Given the description of an element on the screen output the (x, y) to click on. 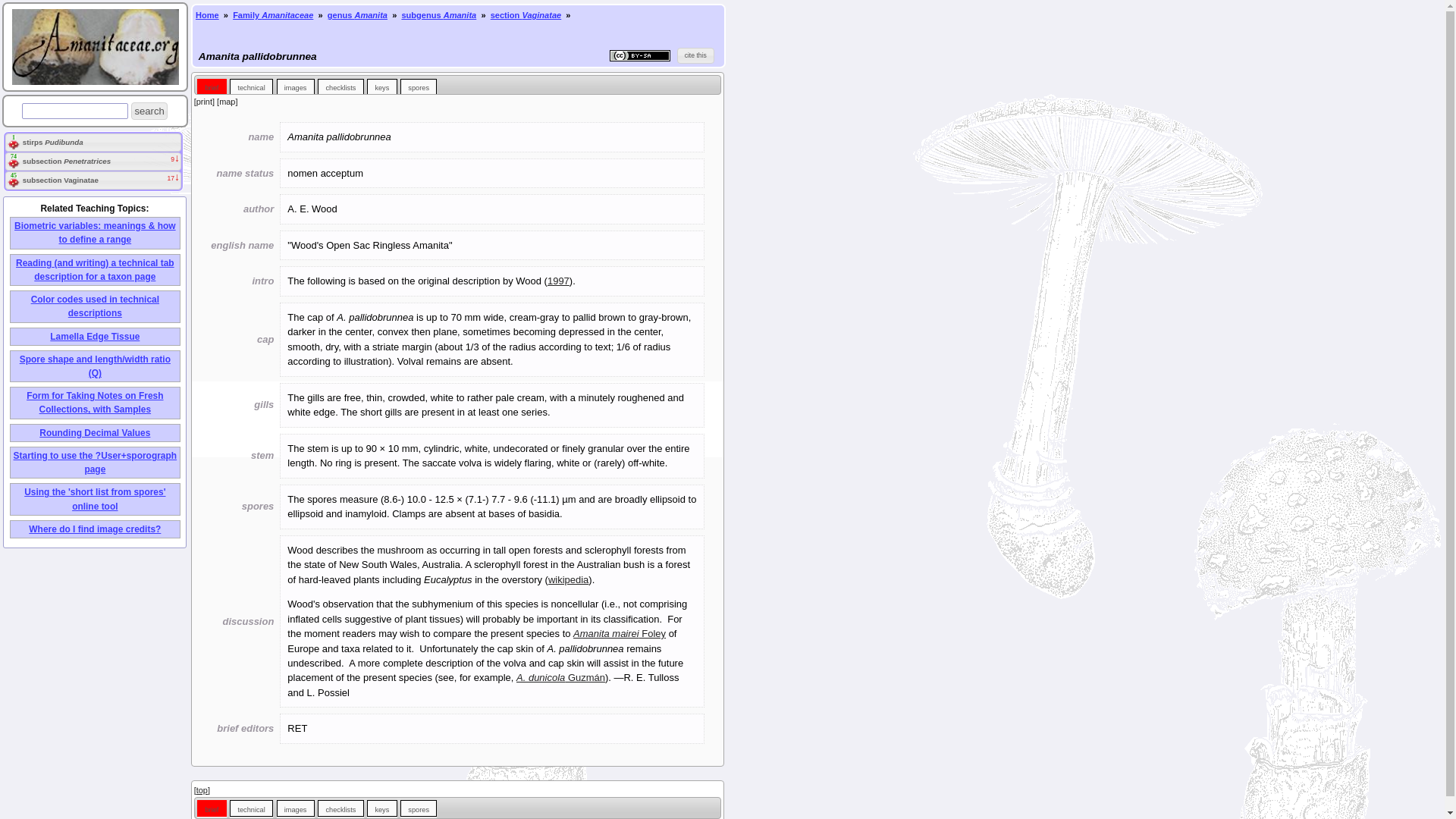
images (295, 85)
map (226, 101)
go to page: stirps Pudibunda (51, 142)
A detailed, technical description of this taxon (251, 808)
Lamella Edge Tissue (94, 336)
print (204, 101)
Where do I find image credits? (94, 529)
spores (418, 85)
Using the 'short list from spores' online tool (94, 498)
